Given the description of an element on the screen output the (x, y) to click on. 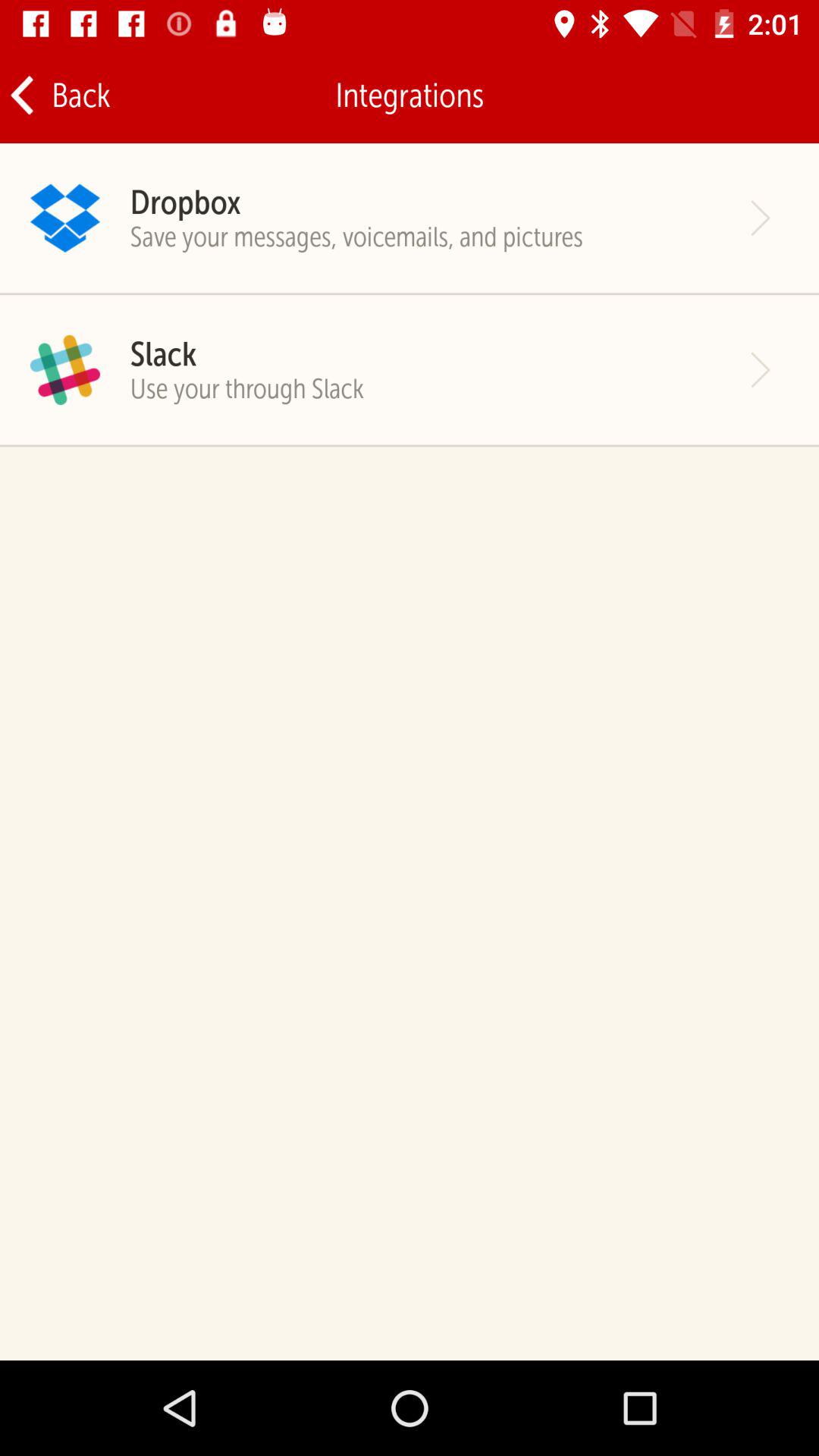
open the item next to the integrations icon (59, 95)
